Given the description of an element on the screen output the (x, y) to click on. 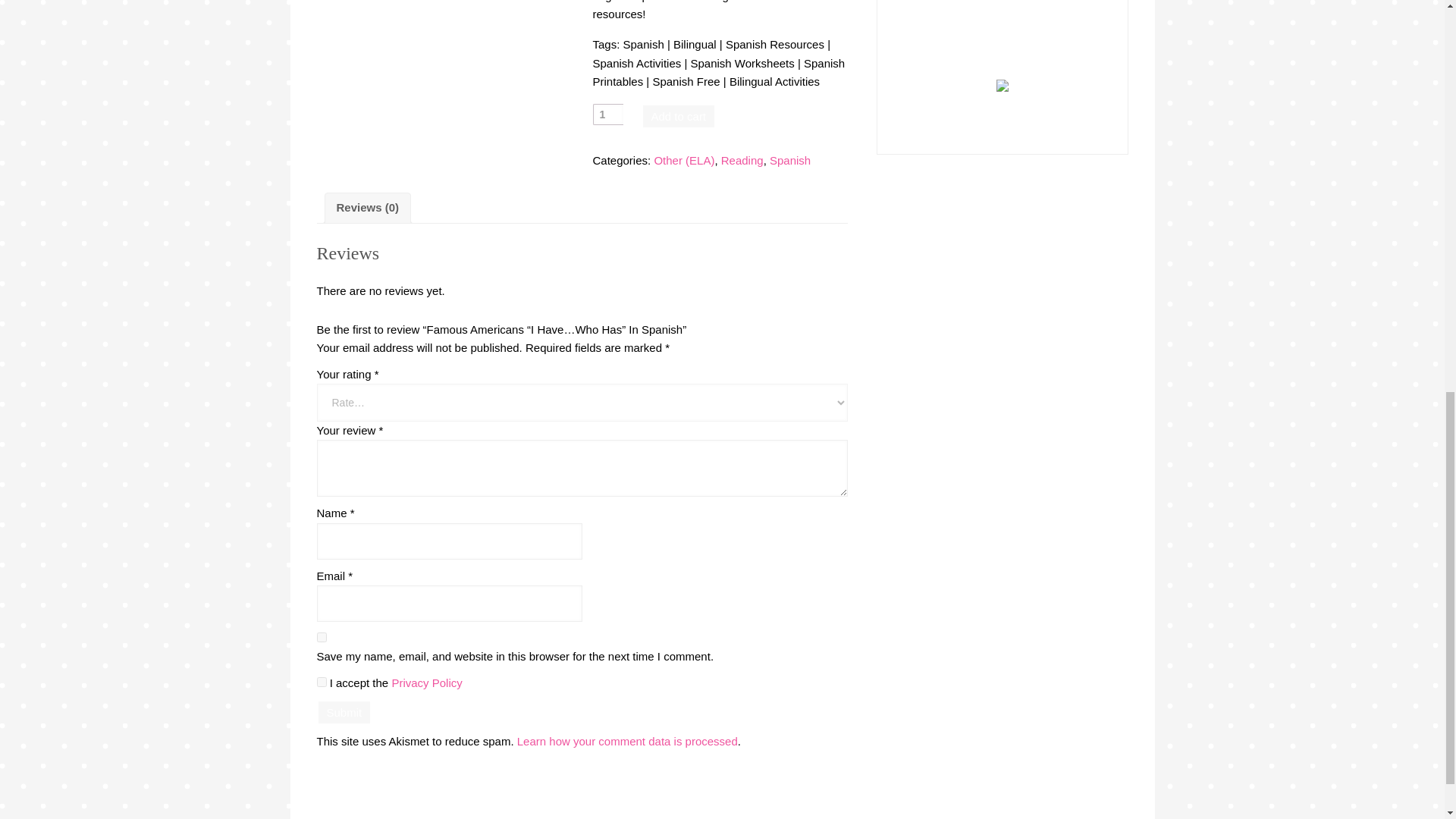
1 (607, 114)
Spanish (790, 160)
Privacy Policy (426, 682)
Submit (344, 712)
1 (321, 682)
Learn how your comment data is processed (627, 740)
Reading (741, 160)
Submit (344, 712)
Add to cart (678, 116)
yes (321, 637)
